Given the description of an element on the screen output the (x, y) to click on. 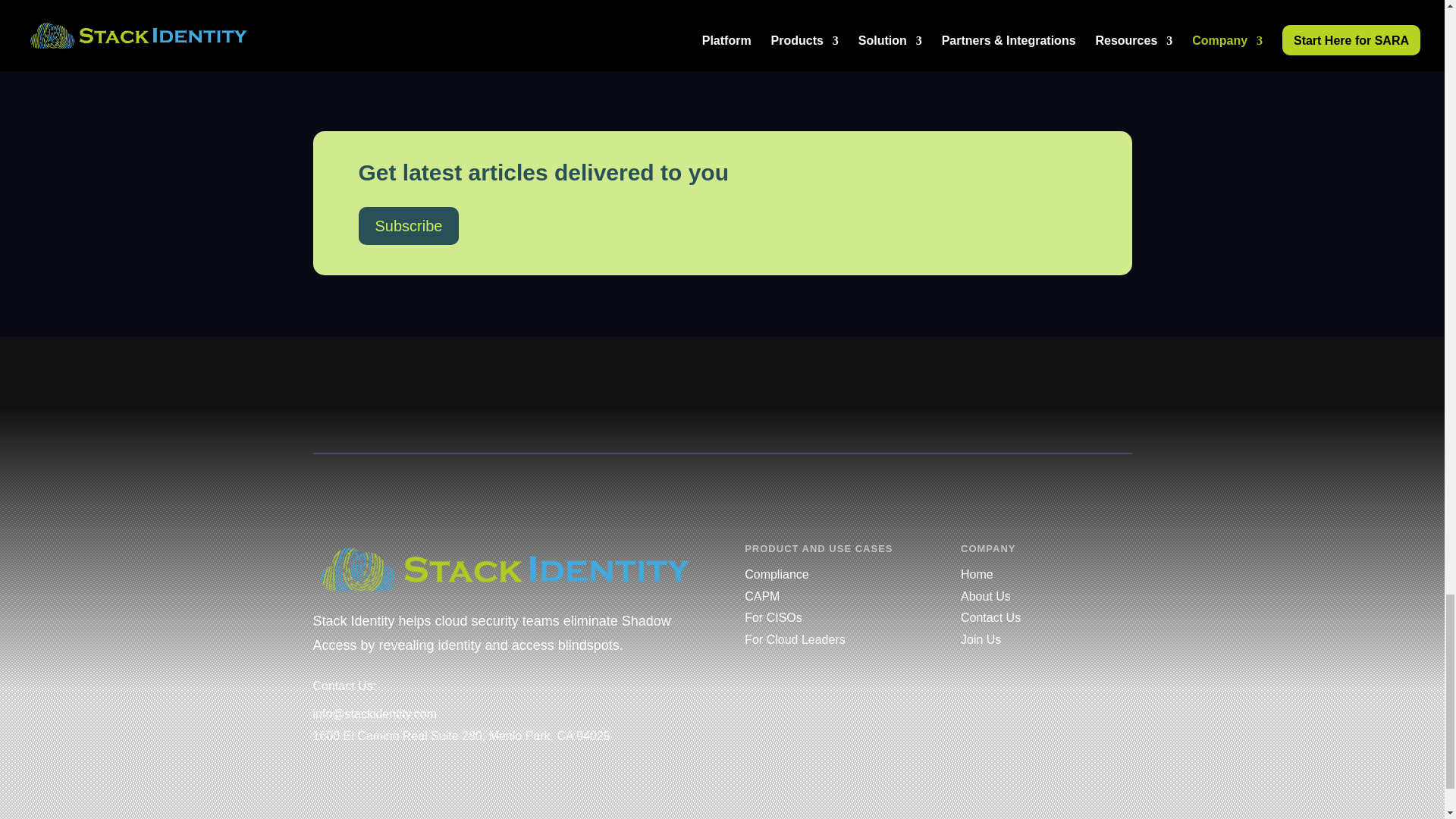
CAPM (761, 595)
Contact Us (990, 617)
About Us (985, 595)
Join Us (980, 639)
Stack Identity (505, 569)
Compliance (776, 574)
For Cloud Leaders (794, 639)
For CISOs (773, 617)
Subscribe (408, 225)
Home (976, 574)
